Given the description of an element on the screen output the (x, y) to click on. 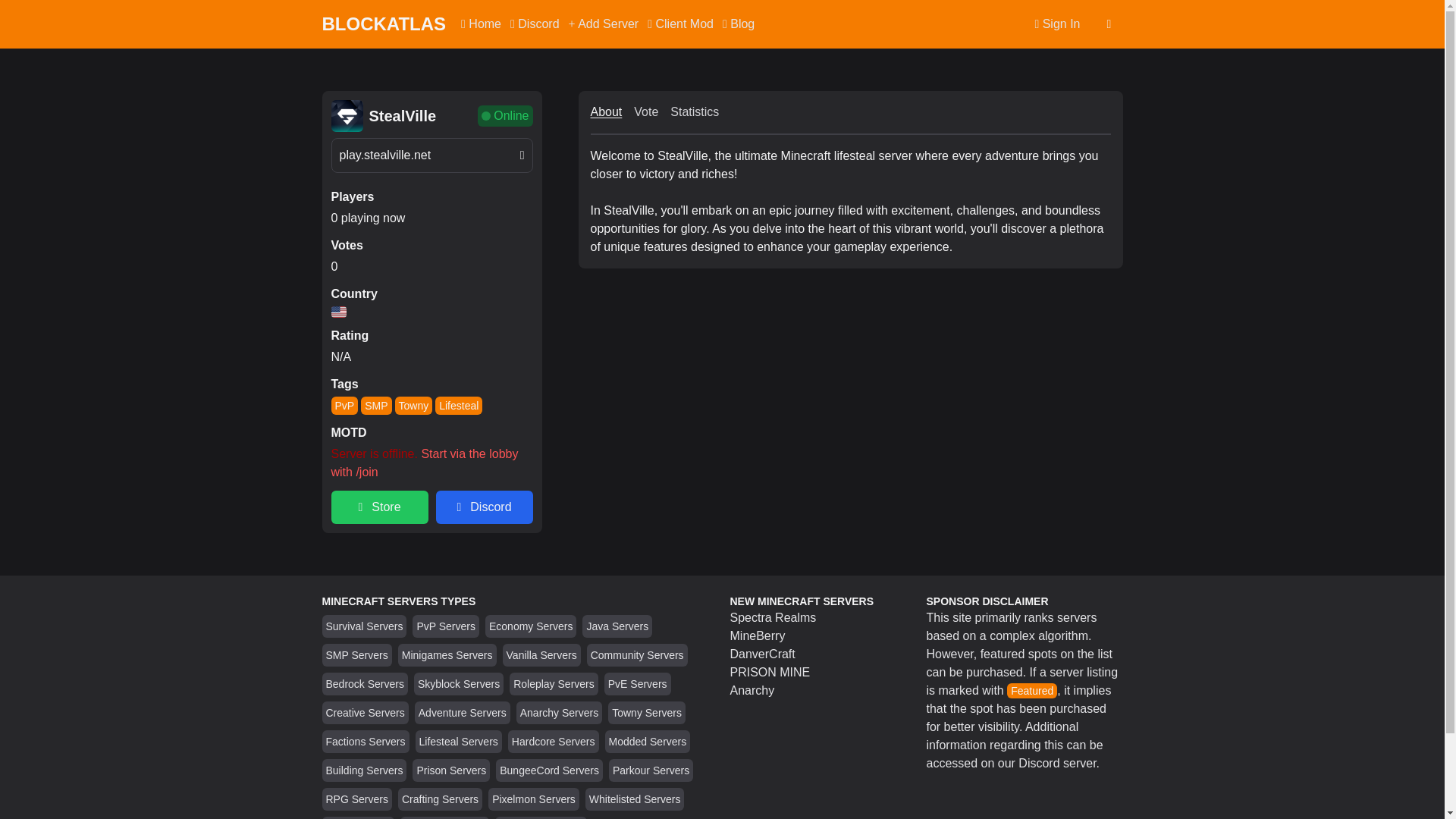
SMP (376, 405)
Minigames Servers (447, 654)
PvE Servers (637, 684)
Sign In (1056, 23)
Anarchy Servers (558, 712)
SMP Servers (357, 654)
Towny (413, 405)
Factions Servers (366, 741)
Java Servers (616, 625)
play.stealville.net (431, 155)
Community Servers (637, 654)
Add Server (604, 23)
StealVille (401, 115)
Skyblock Servers (458, 684)
Discord (535, 23)
